Given the description of an element on the screen output the (x, y) to click on. 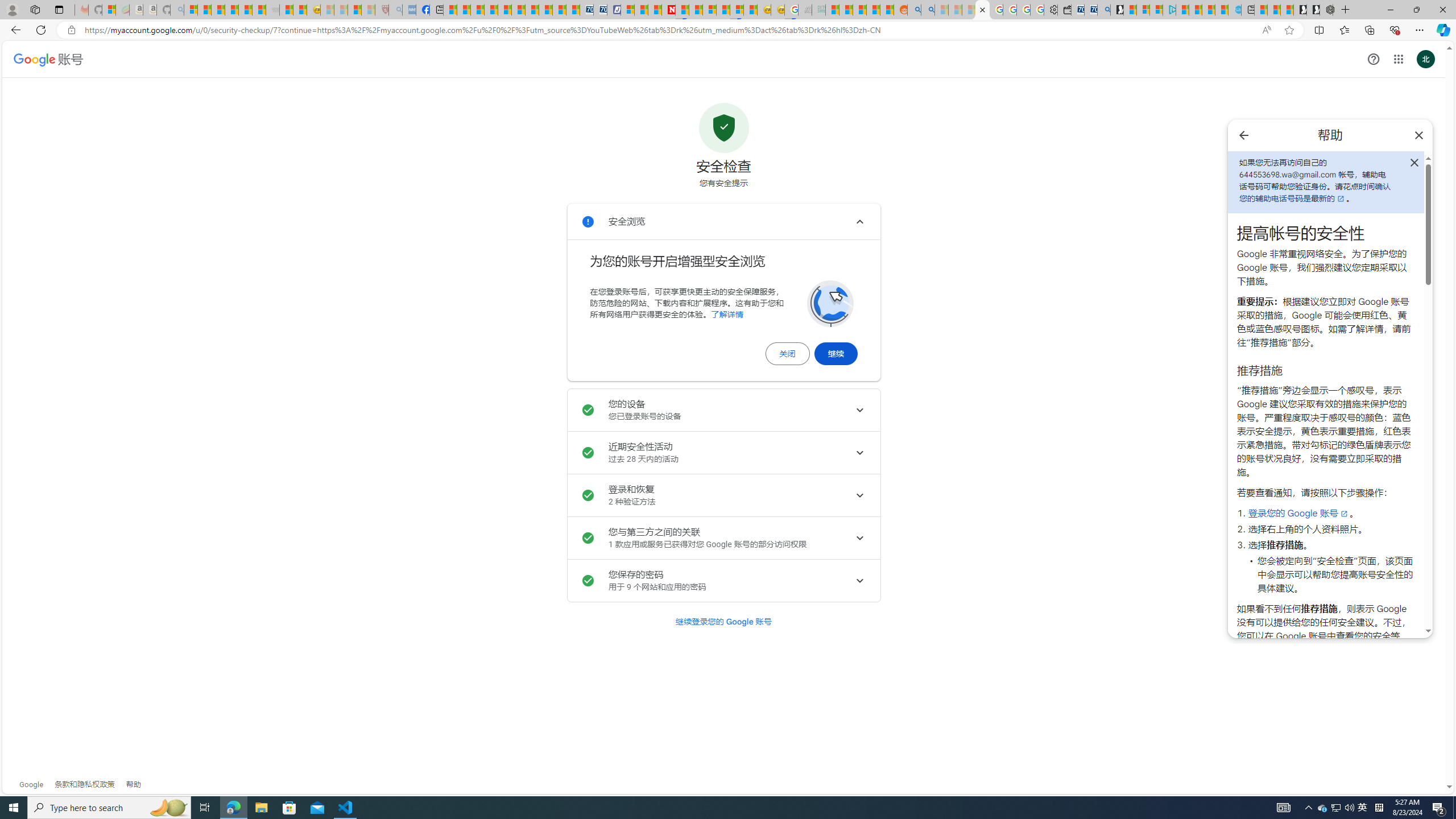
Cheap Hotels - Save70.com (599, 9)
